Given the description of an element on the screen output the (x, y) to click on. 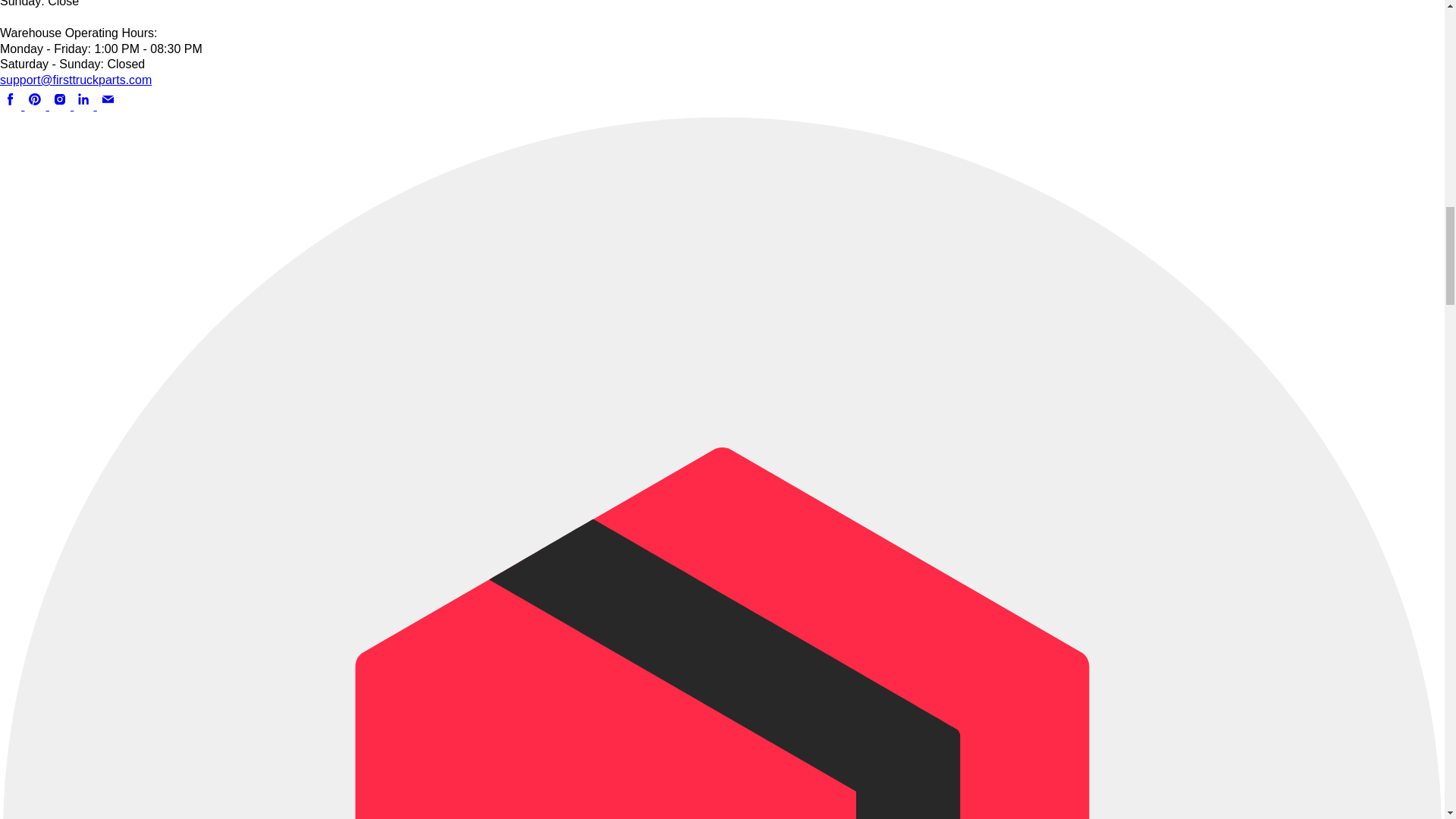
Pinterest (36, 105)
Facebook (12, 105)
LinkedIn (85, 105)
Instagram (61, 105)
Email (107, 105)
